Given the description of an element on the screen output the (x, y) to click on. 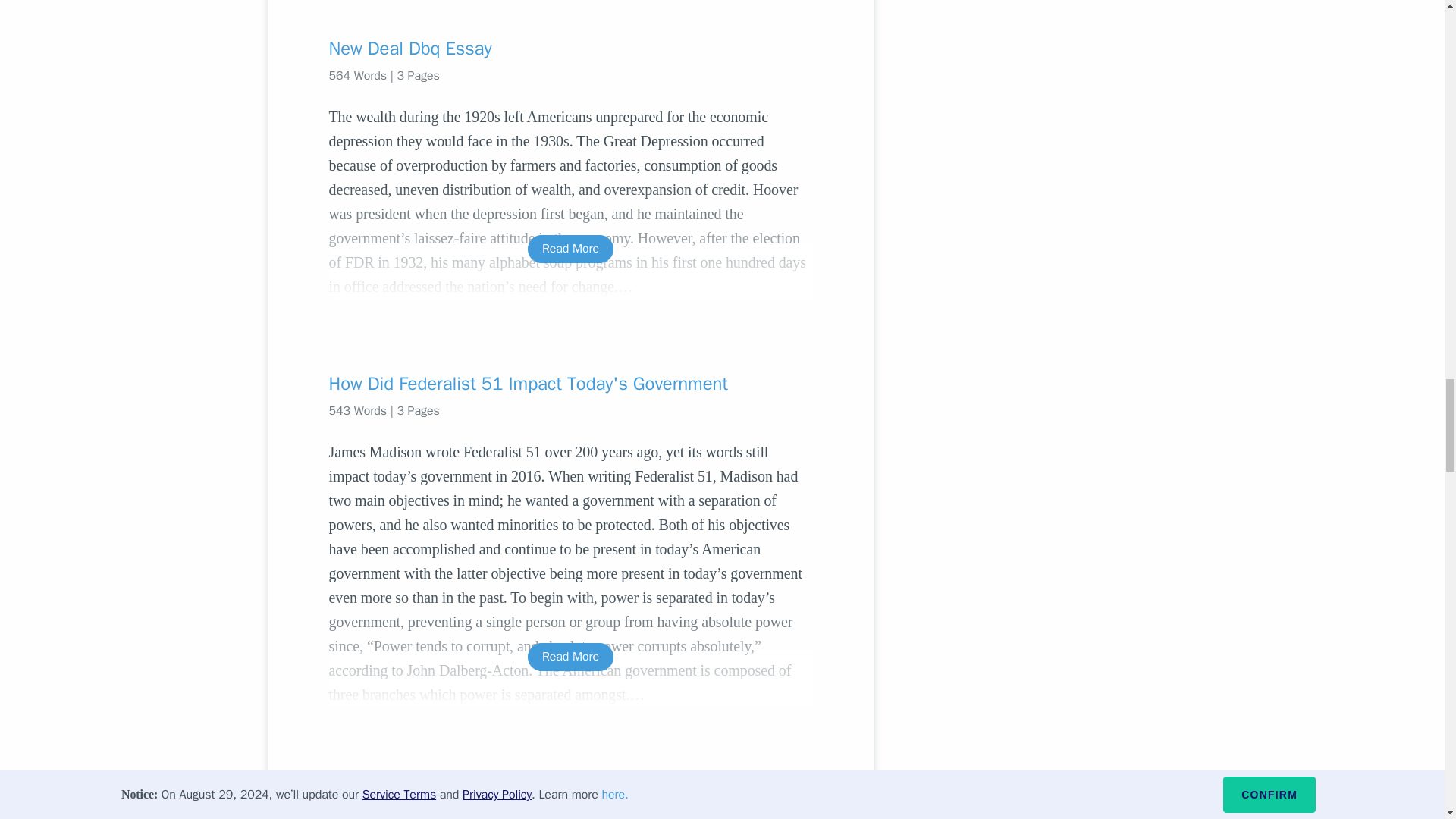
Read More (569, 248)
The Great Depression In The Film, Cinderella Man (570, 791)
Read More (569, 656)
New Deal Dbq Essay (570, 48)
How Did Federalist 51 Impact Today's Government (570, 383)
